Given the description of an element on the screen output the (x, y) to click on. 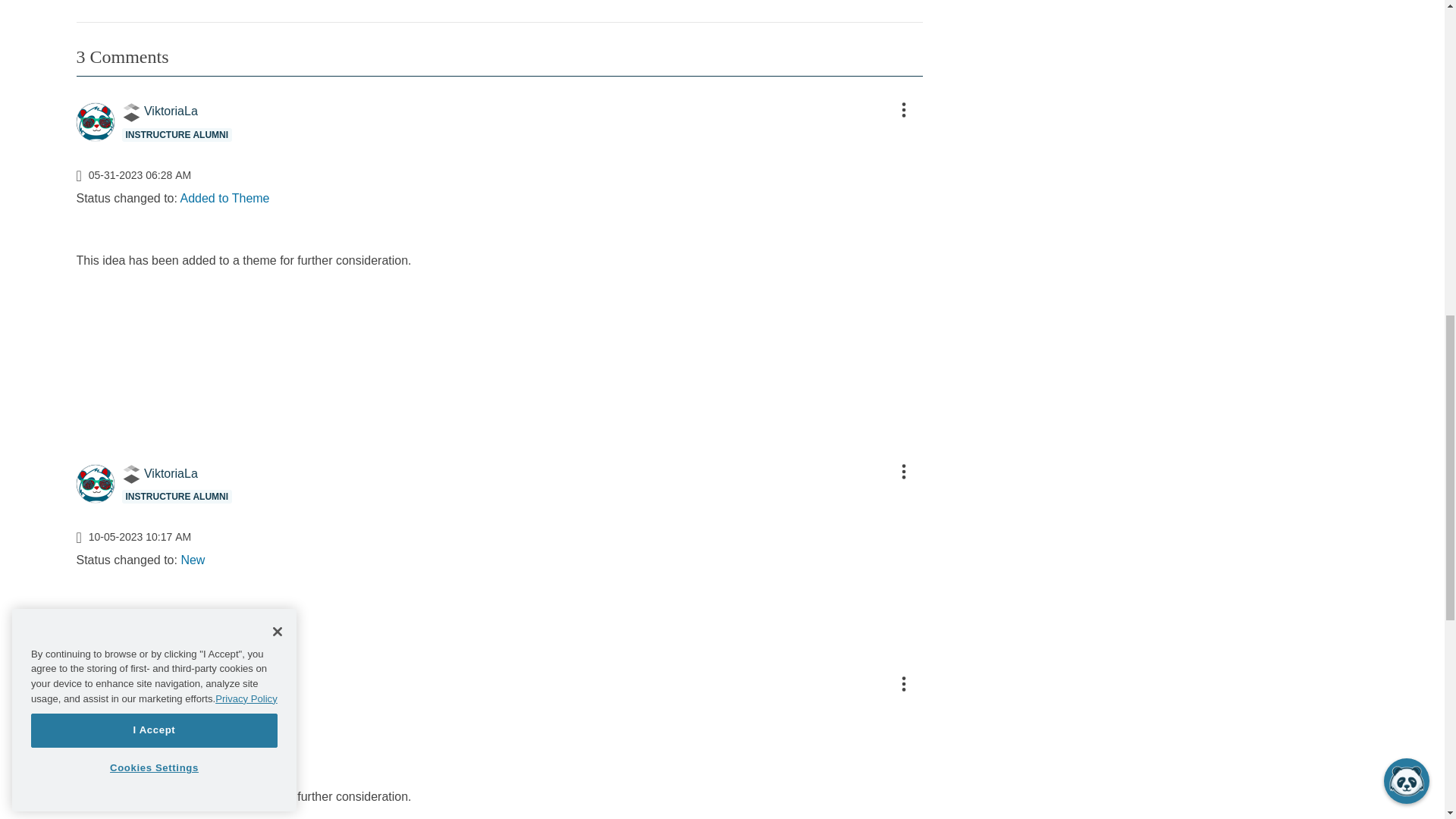
ViktoriaLa (94, 483)
Show option menu (902, 109)
ViktoriaLa (94, 121)
Instructure Alumni (129, 112)
Posted on (498, 174)
